Given the description of an element on the screen output the (x, y) to click on. 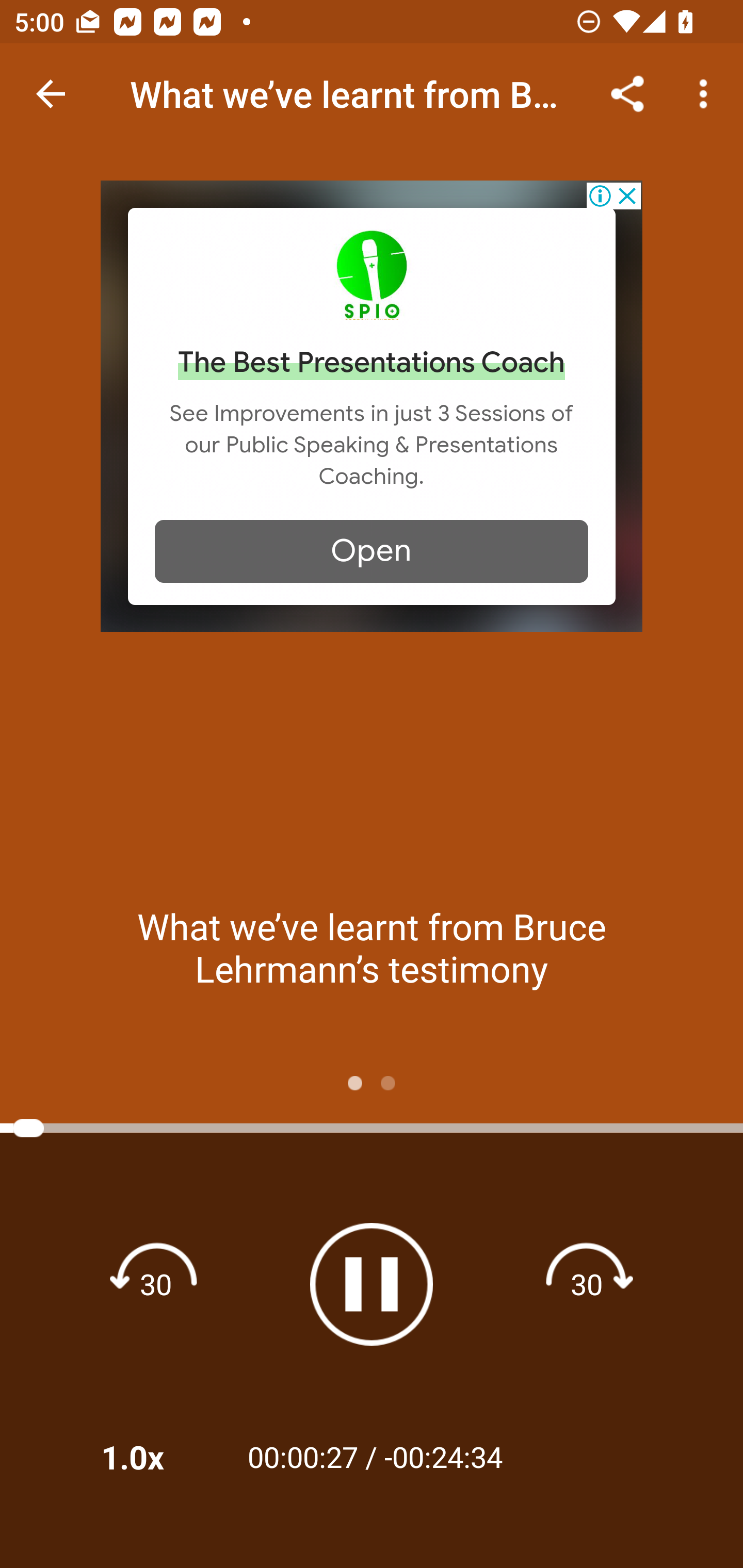
Navigate up (50, 93)
Share... (626, 93)
More options (706, 93)
www.spio (371, 274)
The Best Presentations Coach (371, 362)
Open (371, 550)
Pause (371, 1284)
Rewind (155, 1282)
Fast forward (586, 1282)
1.0x Playback Speeds (158, 1456)
-00:24:34 (443, 1455)
